Given the description of an element on the screen output the (x, y) to click on. 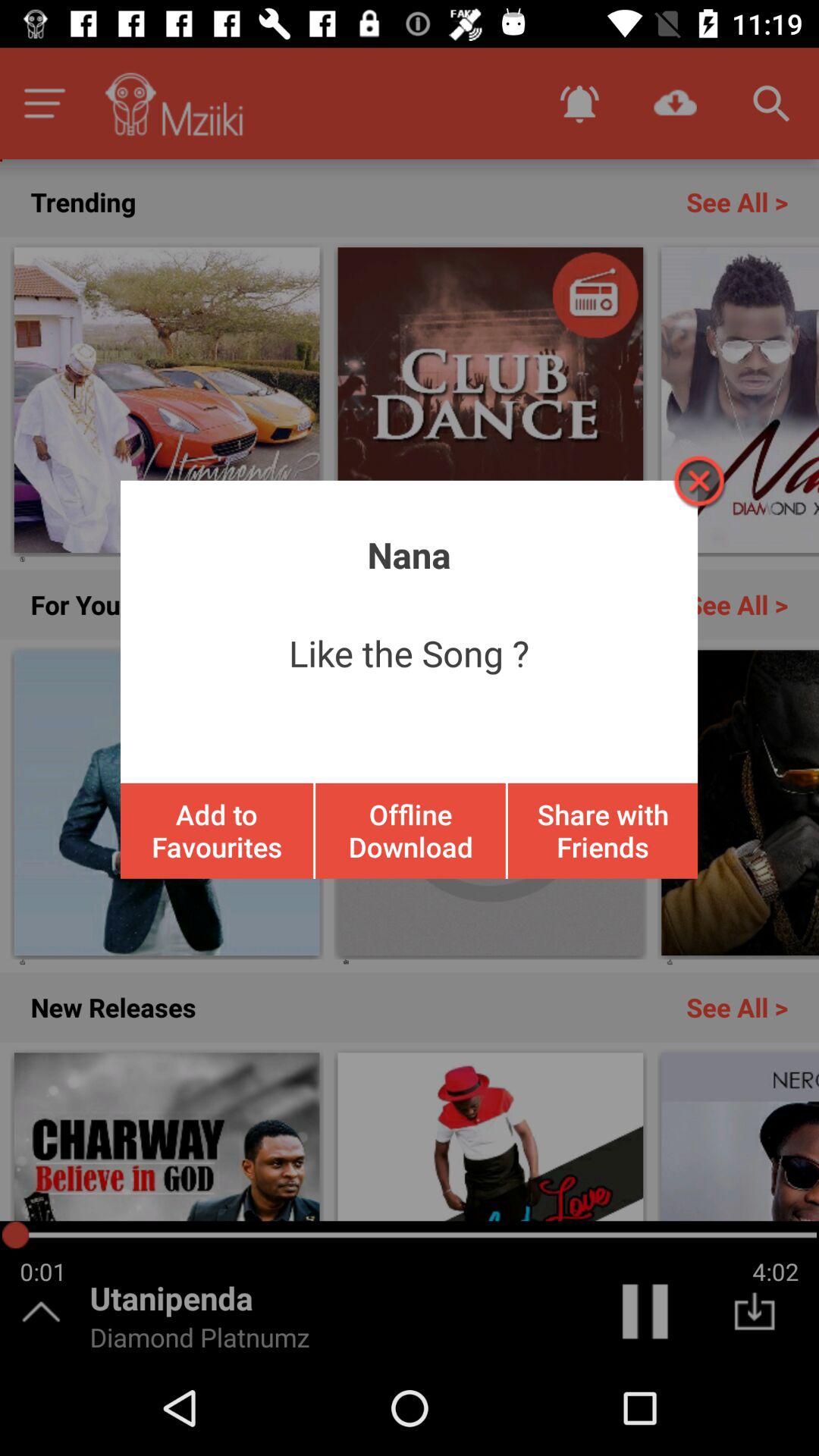
tap app below like the song ? icon (602, 830)
